Given the description of an element on the screen output the (x, y) to click on. 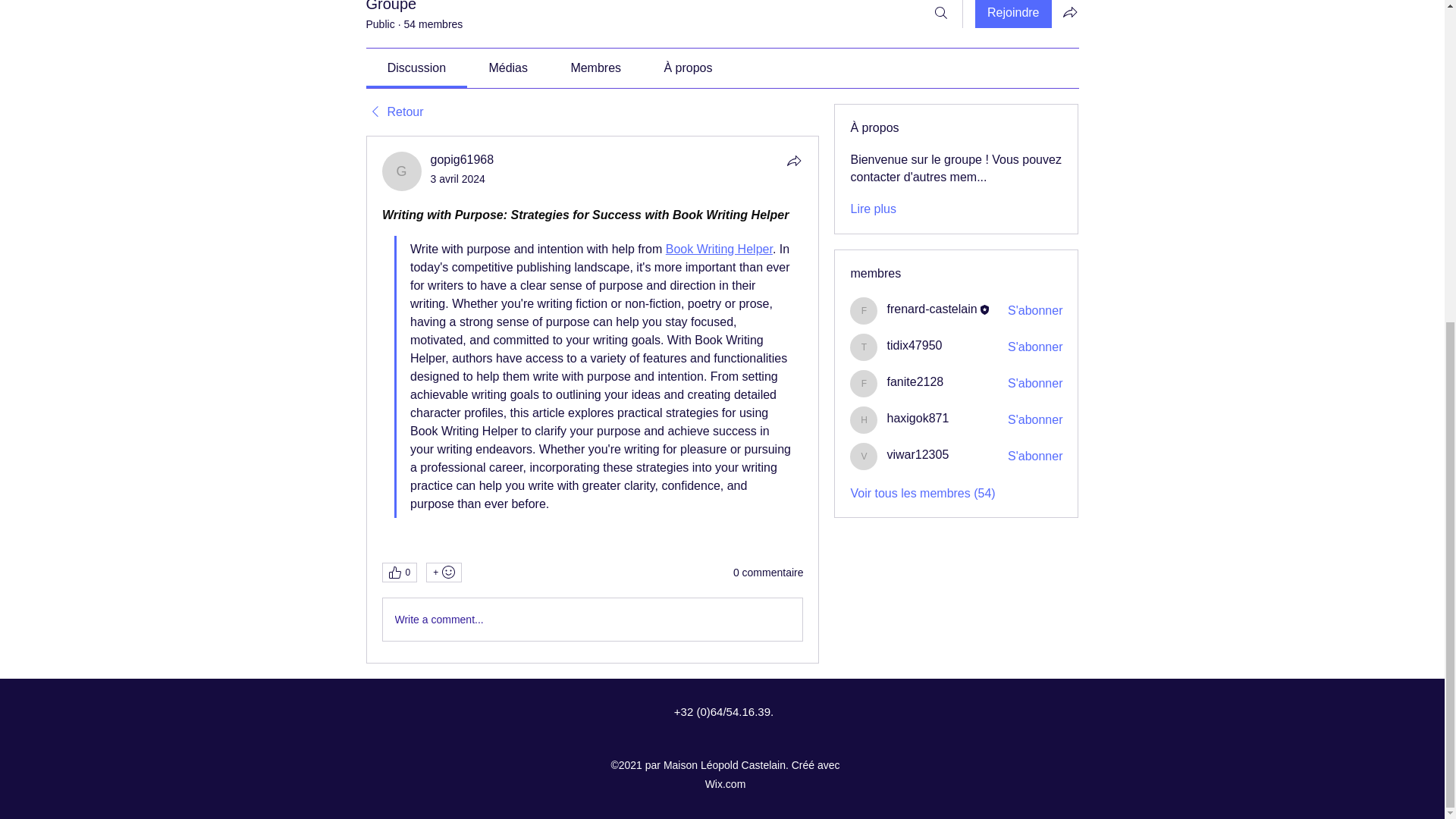
Rejoindre (1013, 13)
S'abonner (1034, 310)
tidix47950 (863, 347)
haxigok871 (917, 418)
viwar12305 (863, 456)
Write a comment... (591, 619)
frenard-castelain (863, 310)
S'abonner (1034, 383)
Lire plus (872, 208)
S'abonner (1034, 347)
viwar12305 (917, 454)
3 avril 2024 (457, 178)
frenard-castelain (931, 308)
gopig61968 (401, 170)
fanite2128 (914, 381)
